Given the description of an element on the screen output the (x, y) to click on. 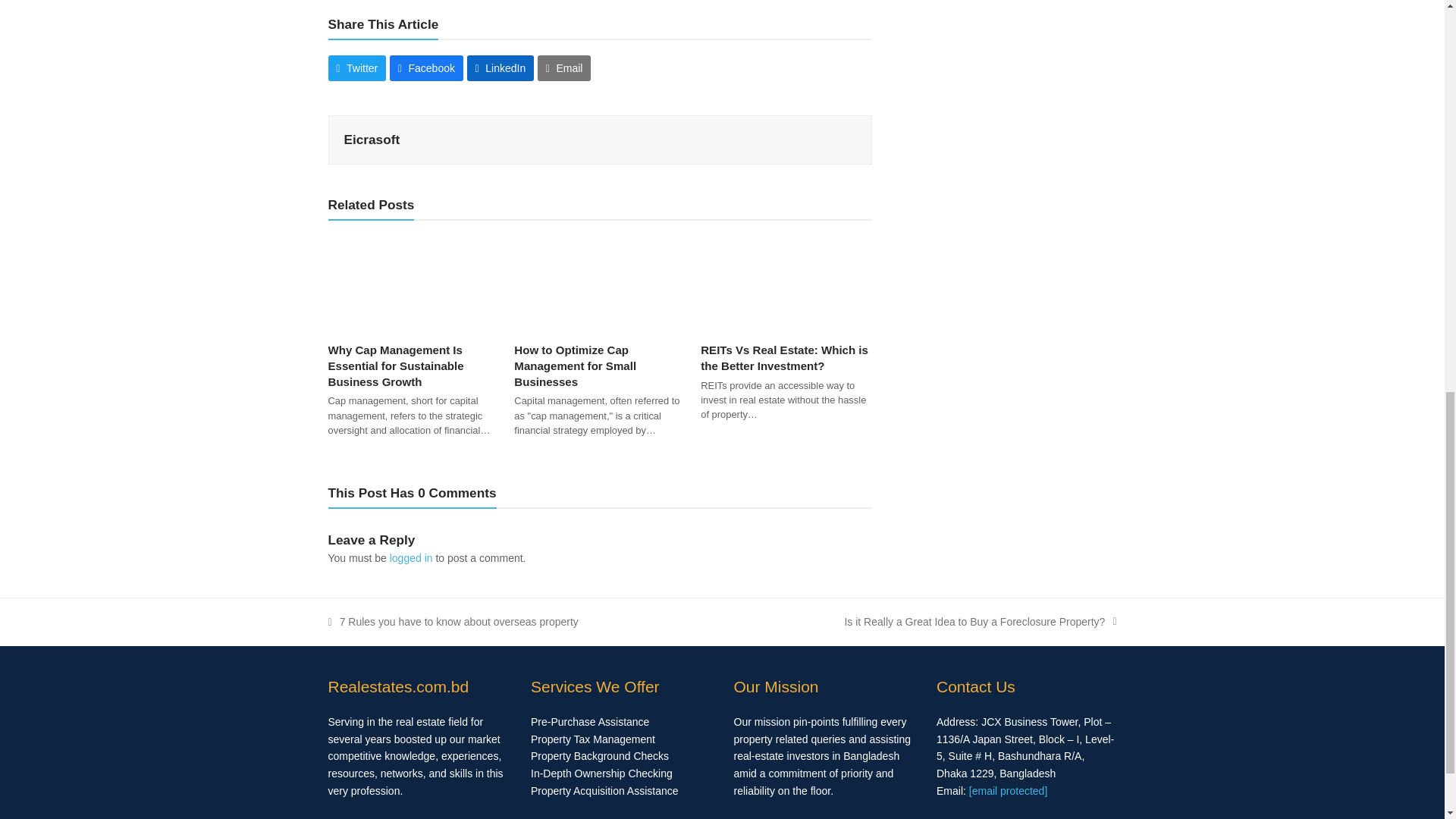
How to Optimize Cap Management for Small Businesses (599, 282)
Visit Author Page (371, 139)
REITs Vs Real Estate: Which is the Better Investment? (786, 282)
